Given the description of an element on the screen output the (x, y) to click on. 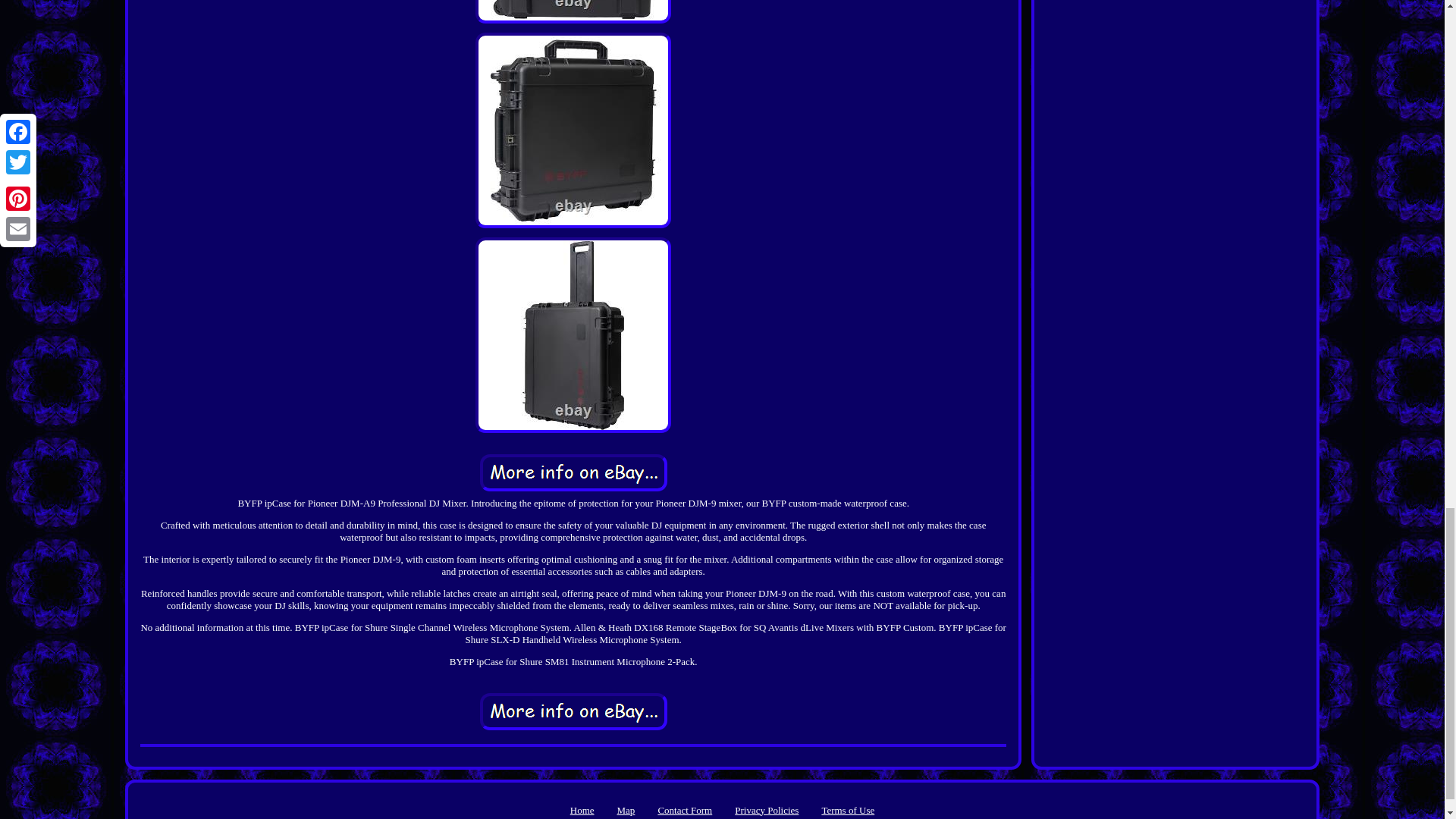
BYFP ipCase for Pioneer DJM-A9 Professional DJ Mixer (573, 11)
BYFP ipCase for Pioneer DJM-A9 Professional DJ Mixer (573, 711)
BYFP ipCase for Pioneer DJM-A9 Professional DJ Mixer (573, 472)
BYFP ipCase for Pioneer DJM-A9 Professional DJ Mixer (573, 130)
BYFP ipCase for Pioneer DJM-A9 Professional DJ Mixer (573, 335)
